Given the description of an element on the screen output the (x, y) to click on. 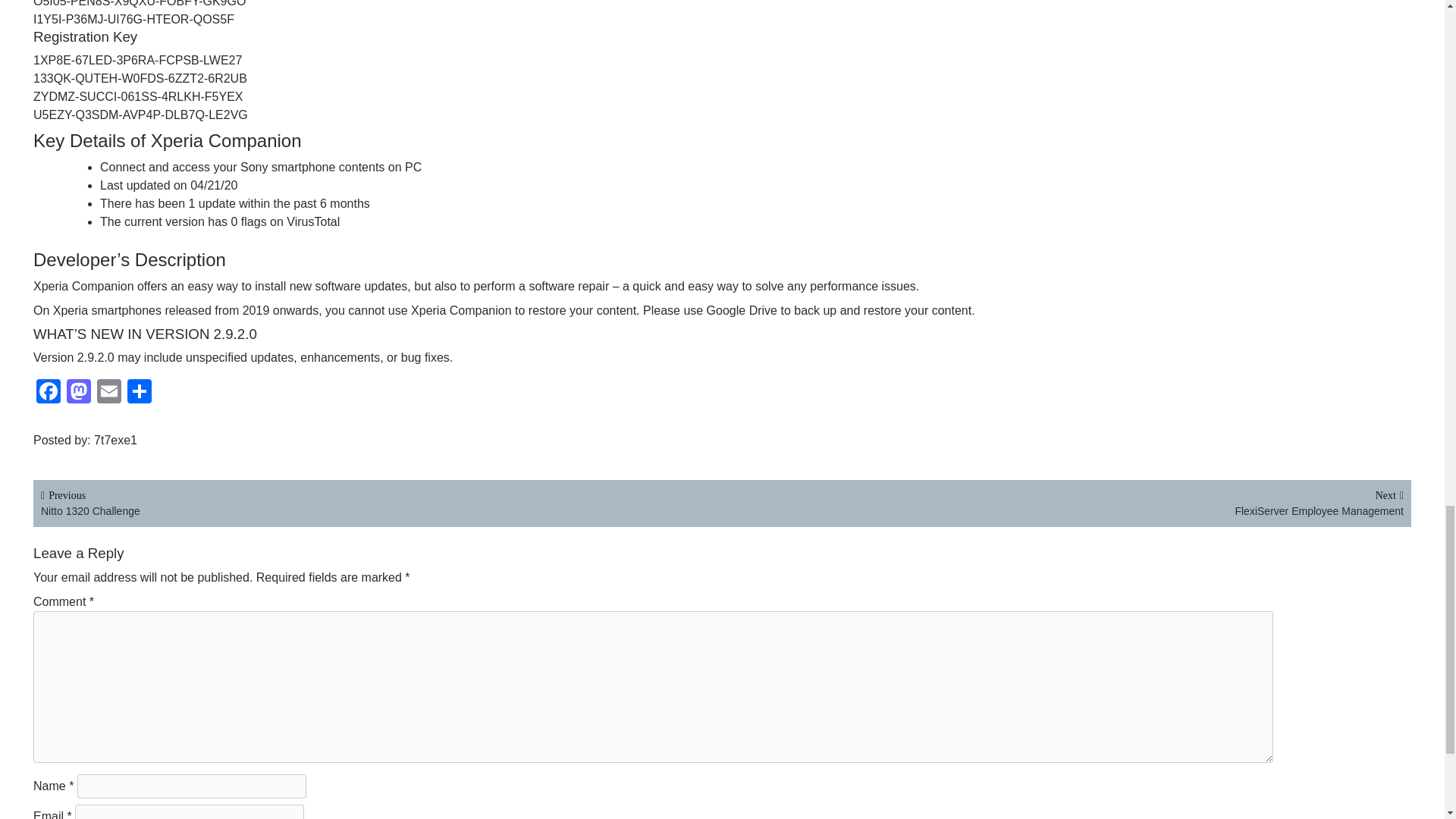
Facebook (381, 501)
Email (1062, 501)
7t7exe1 (48, 393)
Mastodon (108, 393)
Mastodon (118, 440)
Facebook (79, 393)
Email (79, 393)
